Given the description of an element on the screen output the (x, y) to click on. 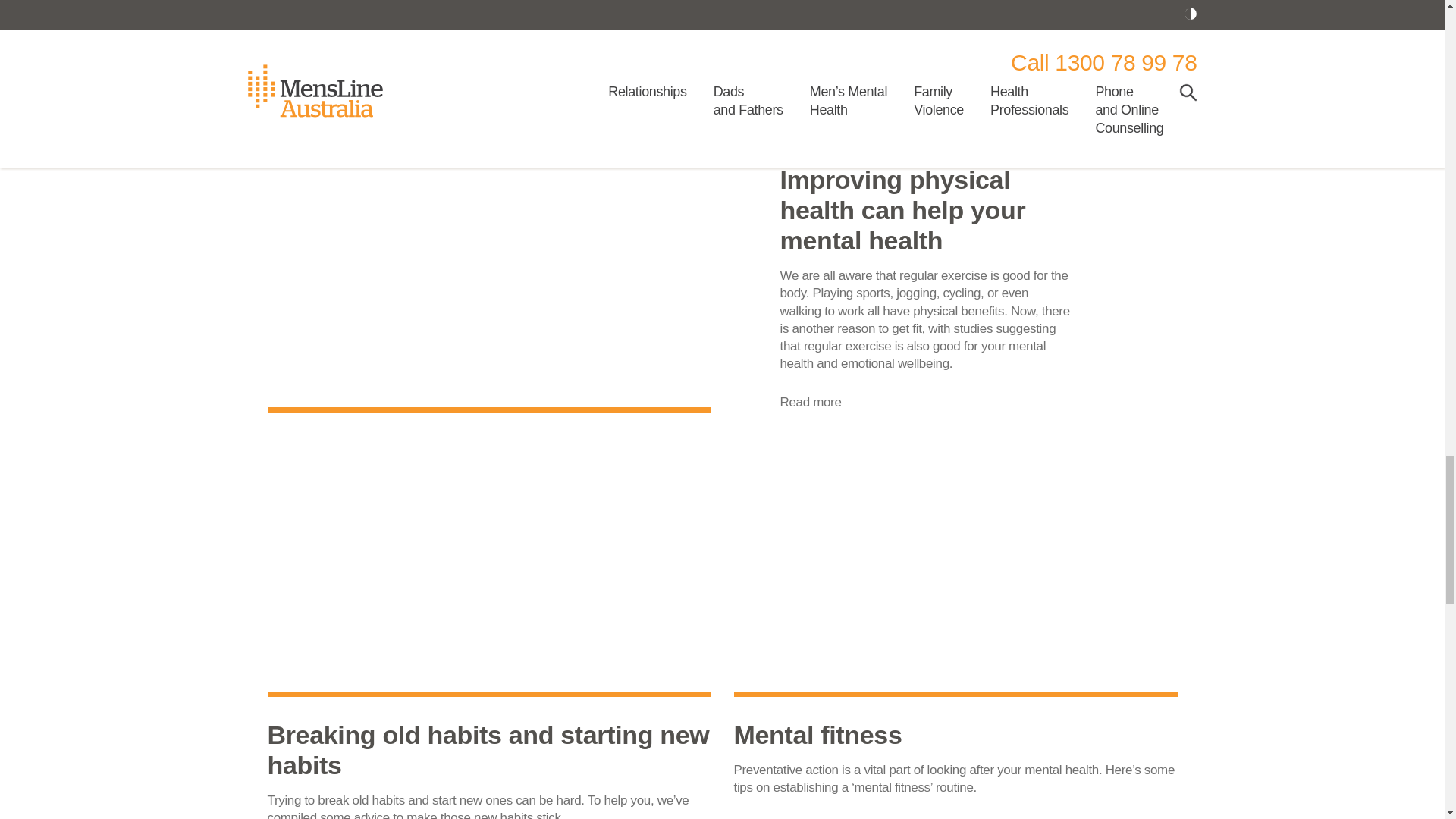
Mental fitness (955, 734)
Read more (809, 401)
Breaking old habits and starting new habits (488, 749)
Improving physical health can help your mental health (924, 209)
